Given the description of an element on the screen output the (x, y) to click on. 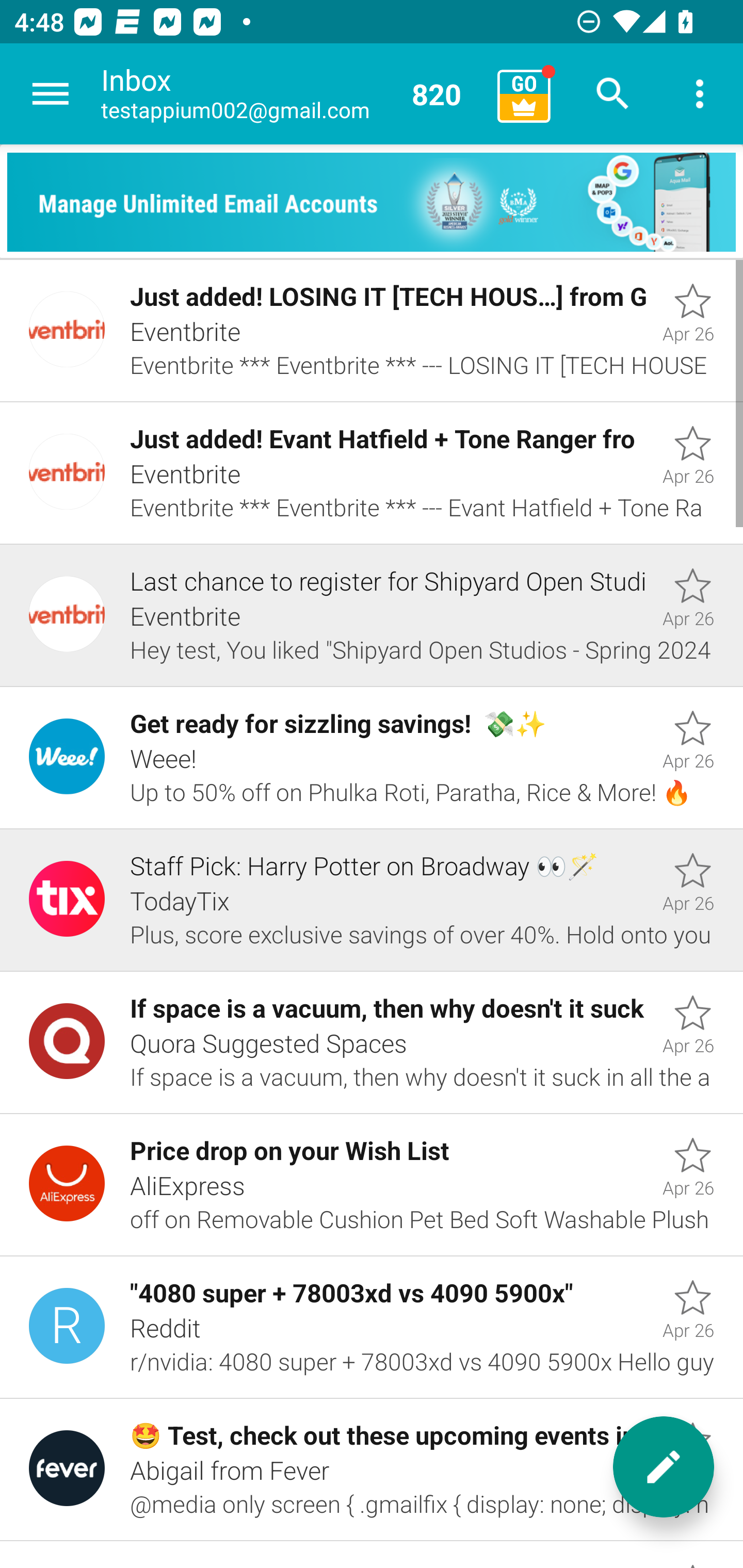
Navigate up (50, 93)
Inbox testappium002@gmail.com 820 (291, 93)
Search (612, 93)
More options (699, 93)
New message (663, 1466)
